Given the description of an element on the screen output the (x, y) to click on. 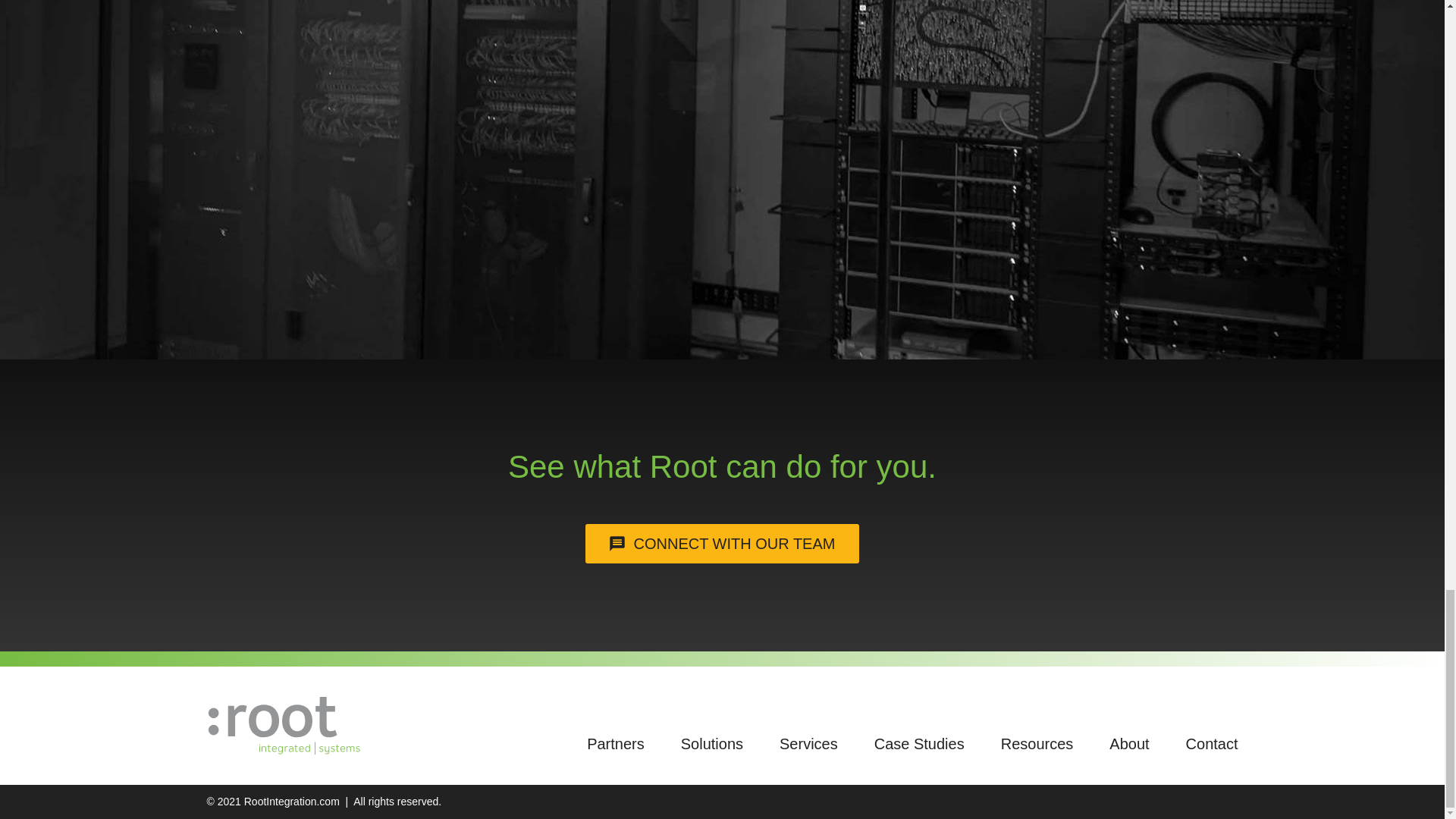
Resources (1037, 742)
Root Integrated Systems (283, 725)
CONNECT WITH OUR TEAM (722, 543)
Case Studies (919, 742)
About (1128, 742)
Partners (615, 742)
Contact (1212, 742)
Solutions (711, 742)
Services (808, 742)
